Given the description of an element on the screen output the (x, y) to click on. 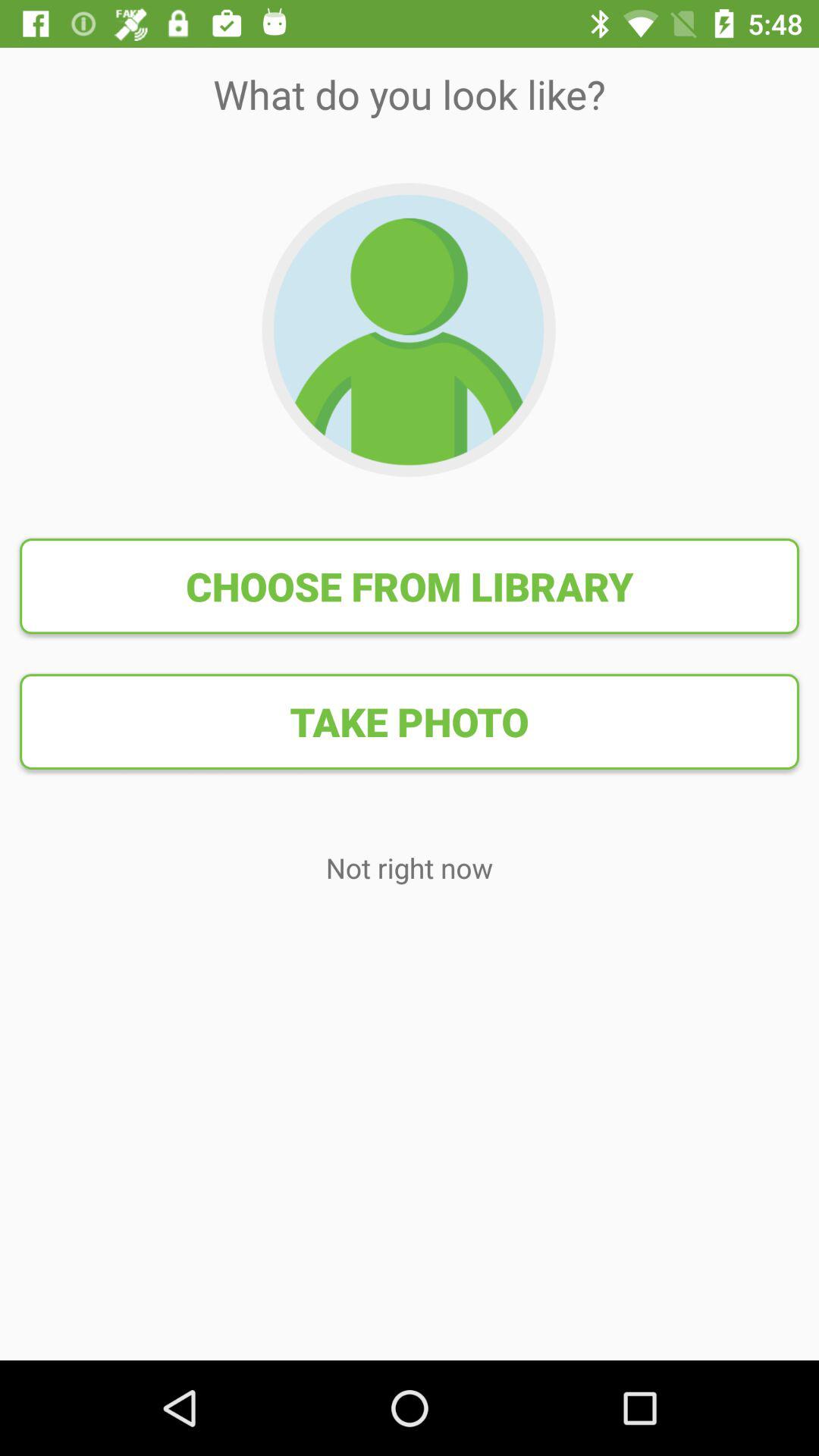
press item below choose from library icon (409, 721)
